Given the description of an element on the screen output the (x, y) to click on. 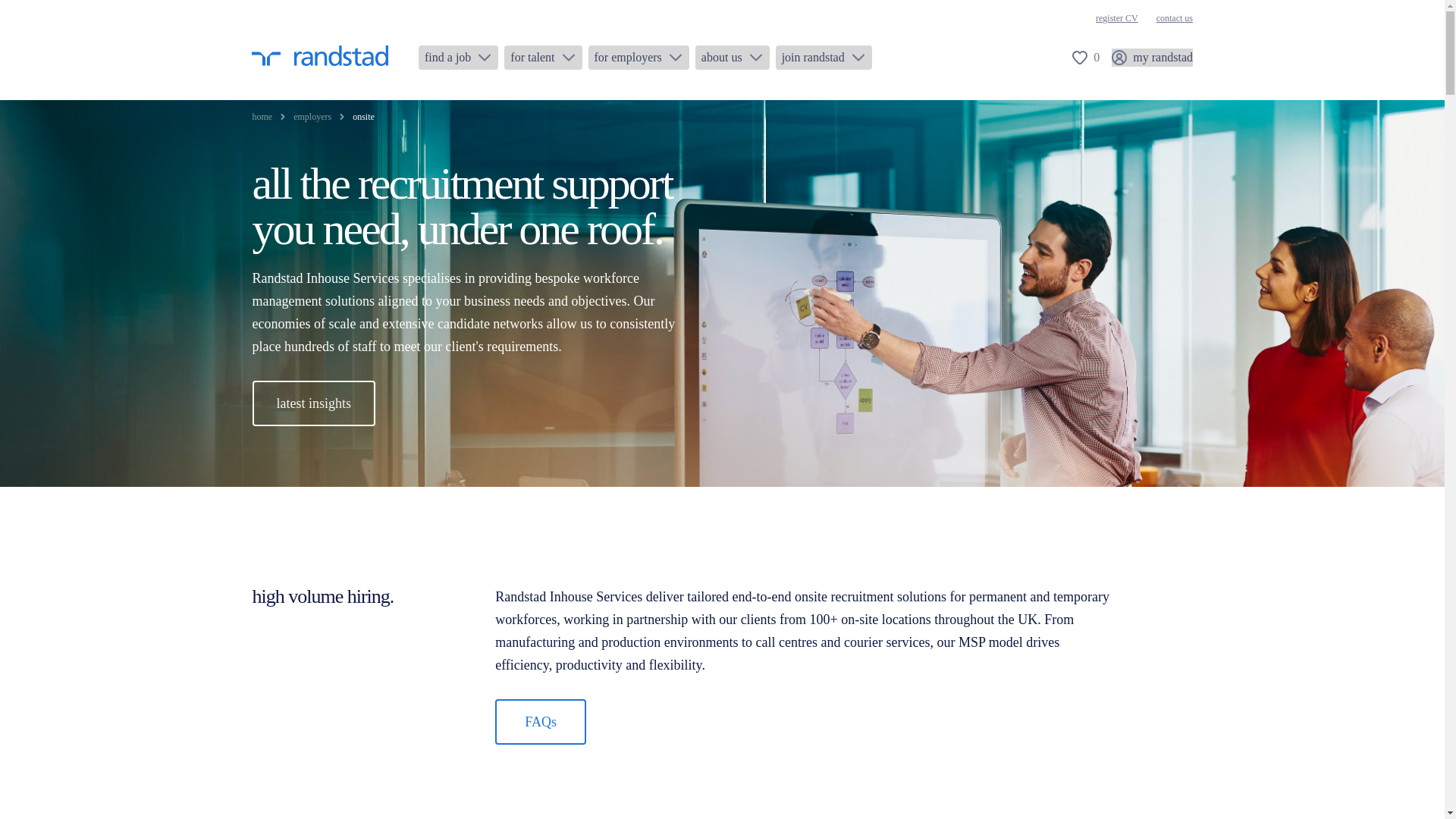
contact us (1174, 18)
register CV (1117, 18)
find a job (458, 57)
for talent (541, 57)
